Given the description of an element on the screen output the (x, y) to click on. 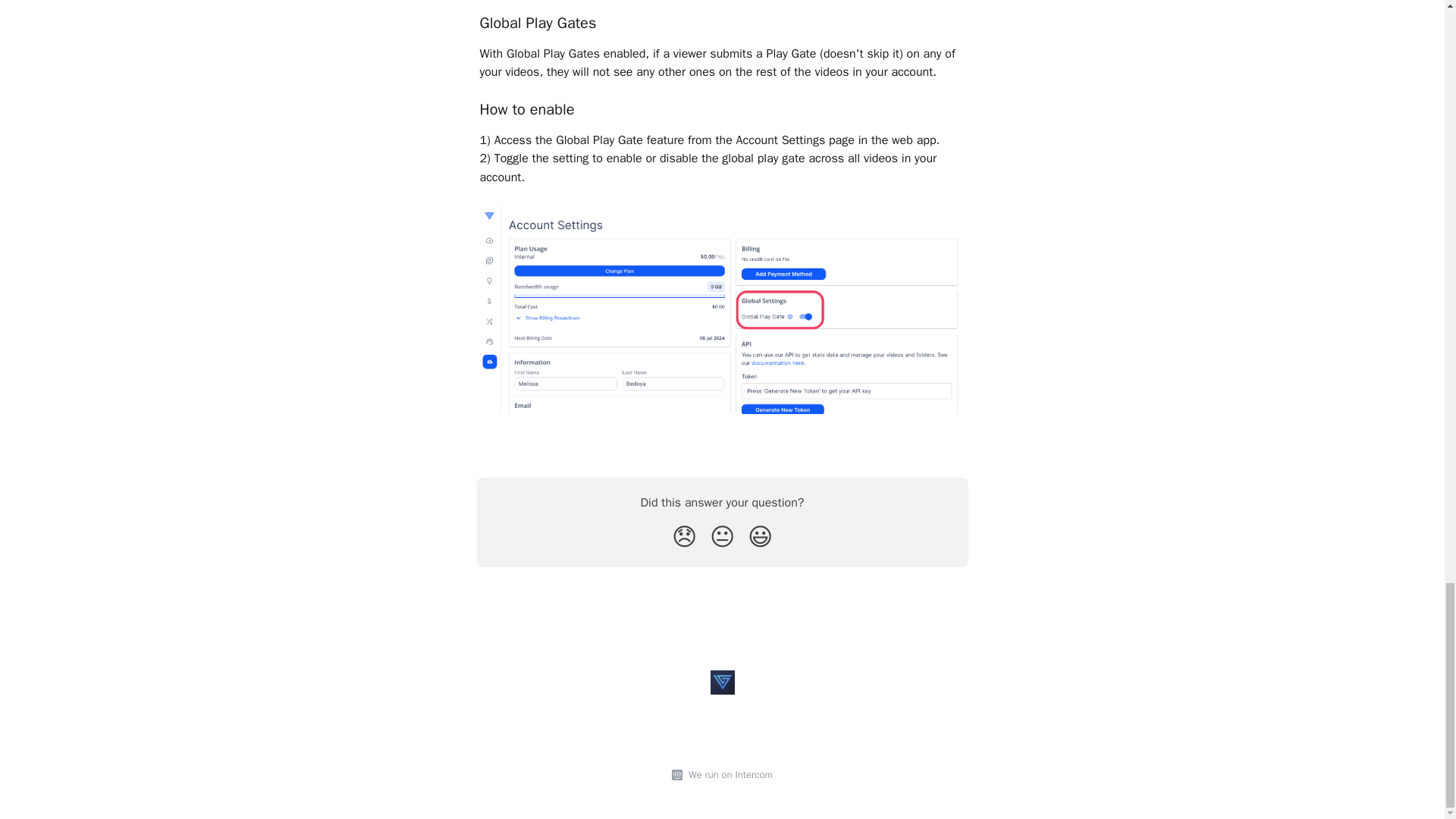
We run on Intercom (727, 774)
